Given the description of an element on the screen output the (x, y) to click on. 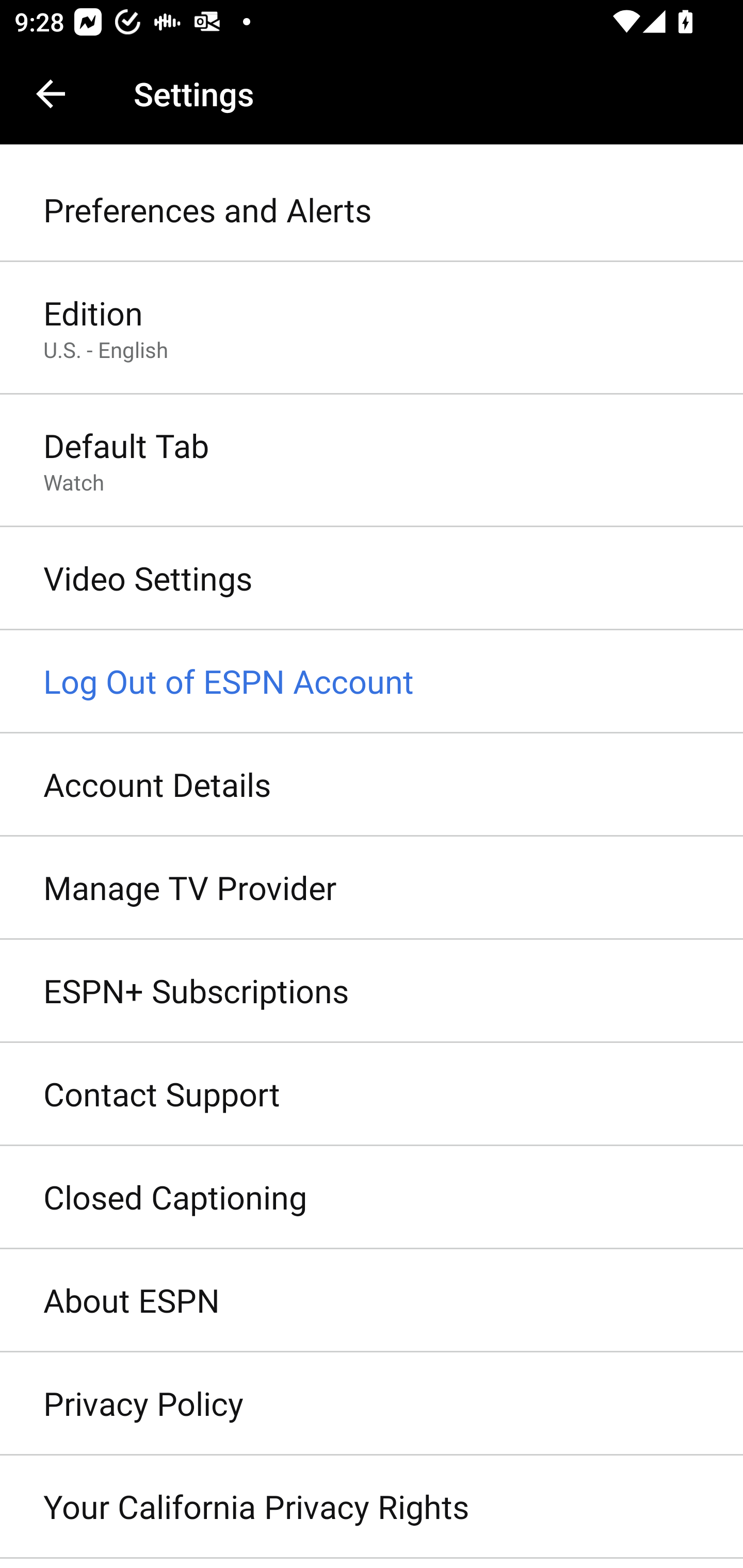
Navigate up (50, 93)
Preferences and Alerts (371, 209)
Edition U.S. - English (371, 328)
Default Tab Watch (371, 461)
Video Settings (371, 578)
Log Out of ESPN Account (371, 681)
Account Details (371, 785)
Manage TV Provider (371, 888)
ESPN+ Subscriptions (371, 990)
Contact Support (371, 1094)
Closed Captioning (371, 1197)
About ESPN (371, 1301)
Privacy Policy (371, 1403)
Your California Privacy Rights (371, 1506)
